Given the description of an element on the screen output the (x, y) to click on. 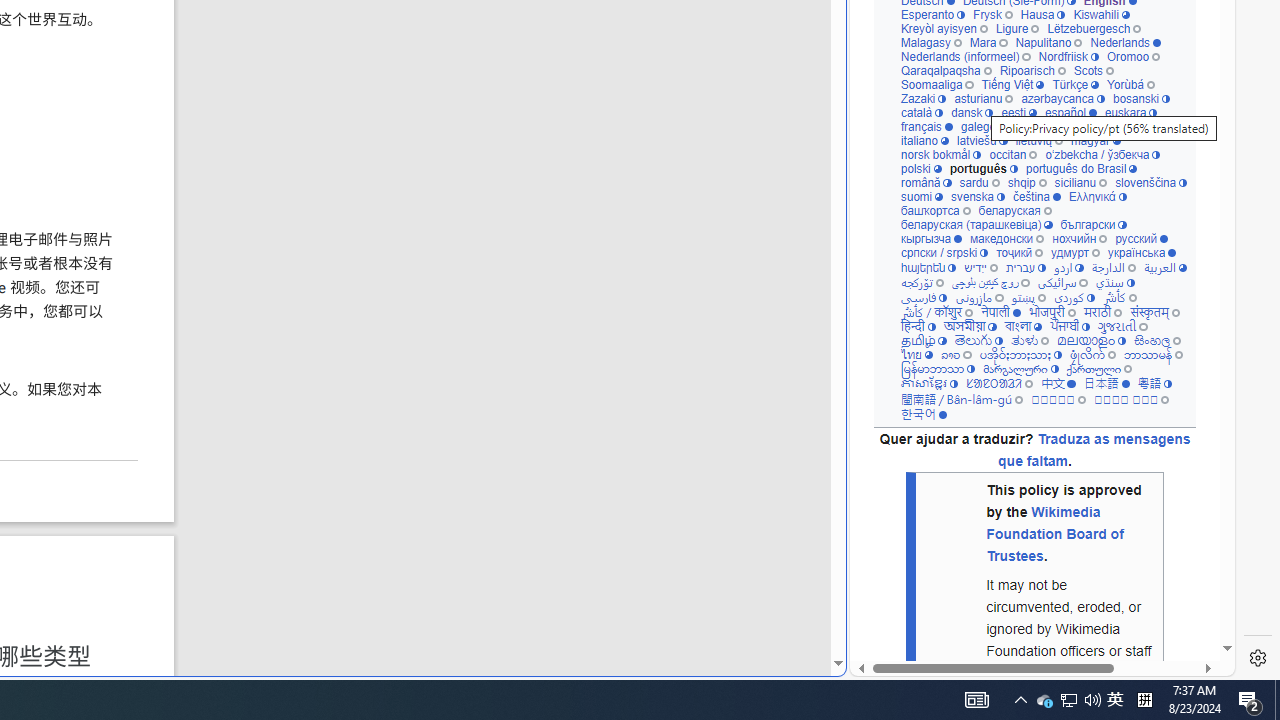
polski (920, 168)
Frysk (992, 14)
Malagasy (930, 42)
suomi (921, 195)
euskara (1130, 112)
